Given the description of an element on the screen output the (x, y) to click on. 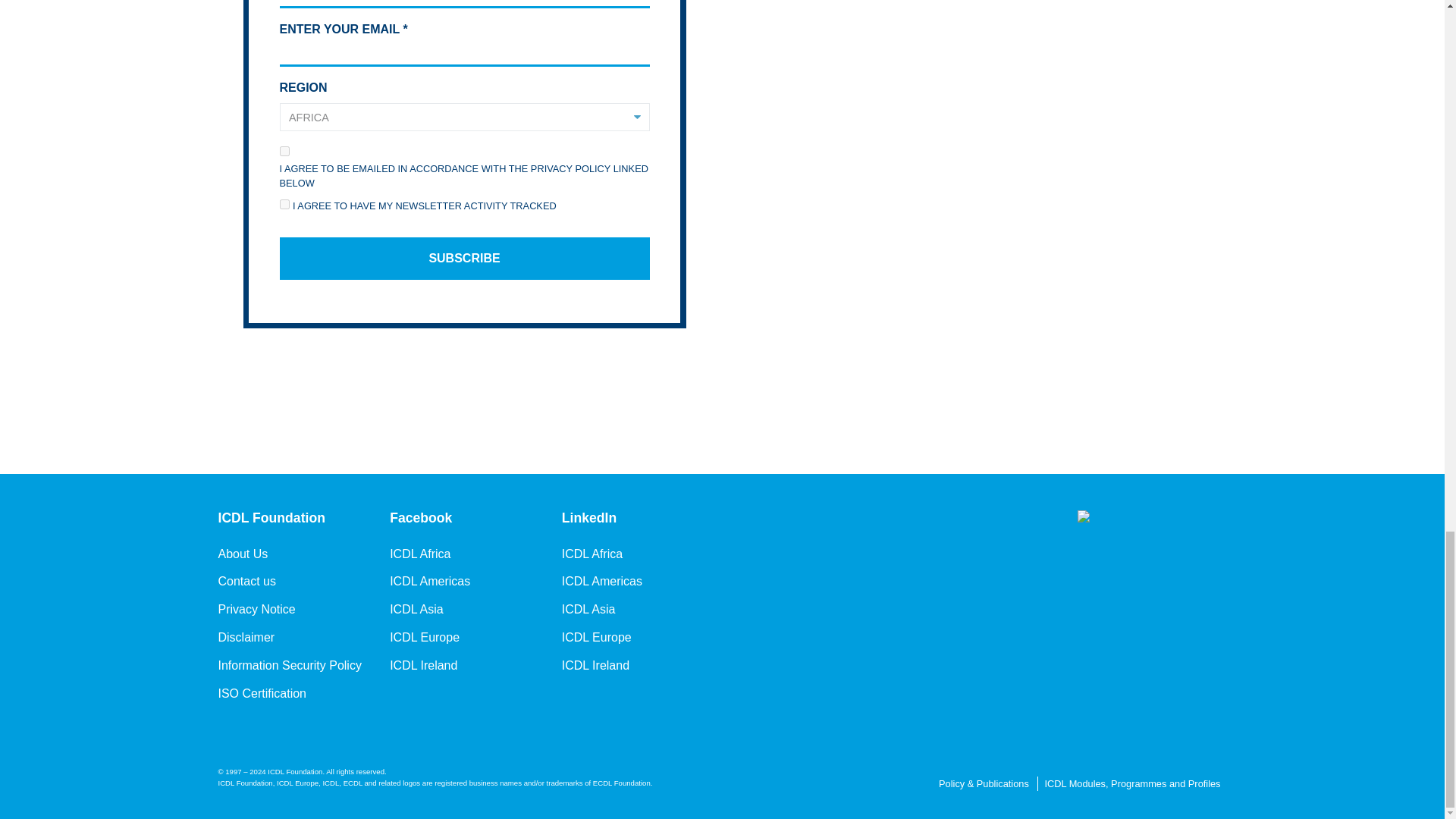
Disclaimer (246, 637)
on (283, 150)
ICDL Americas (430, 581)
ICDL Asia (588, 609)
SUBSCRIBE (464, 258)
Privacy Notice (256, 609)
ICDL Asia (417, 609)
About Us (242, 553)
on (283, 204)
ICDL Africa (419, 553)
ICDL Europe (596, 637)
Information Security Policy (289, 665)
Contact us (247, 581)
ISO Certification (261, 692)
ICDL Ireland (423, 665)
